Given the description of an element on the screen output the (x, y) to click on. 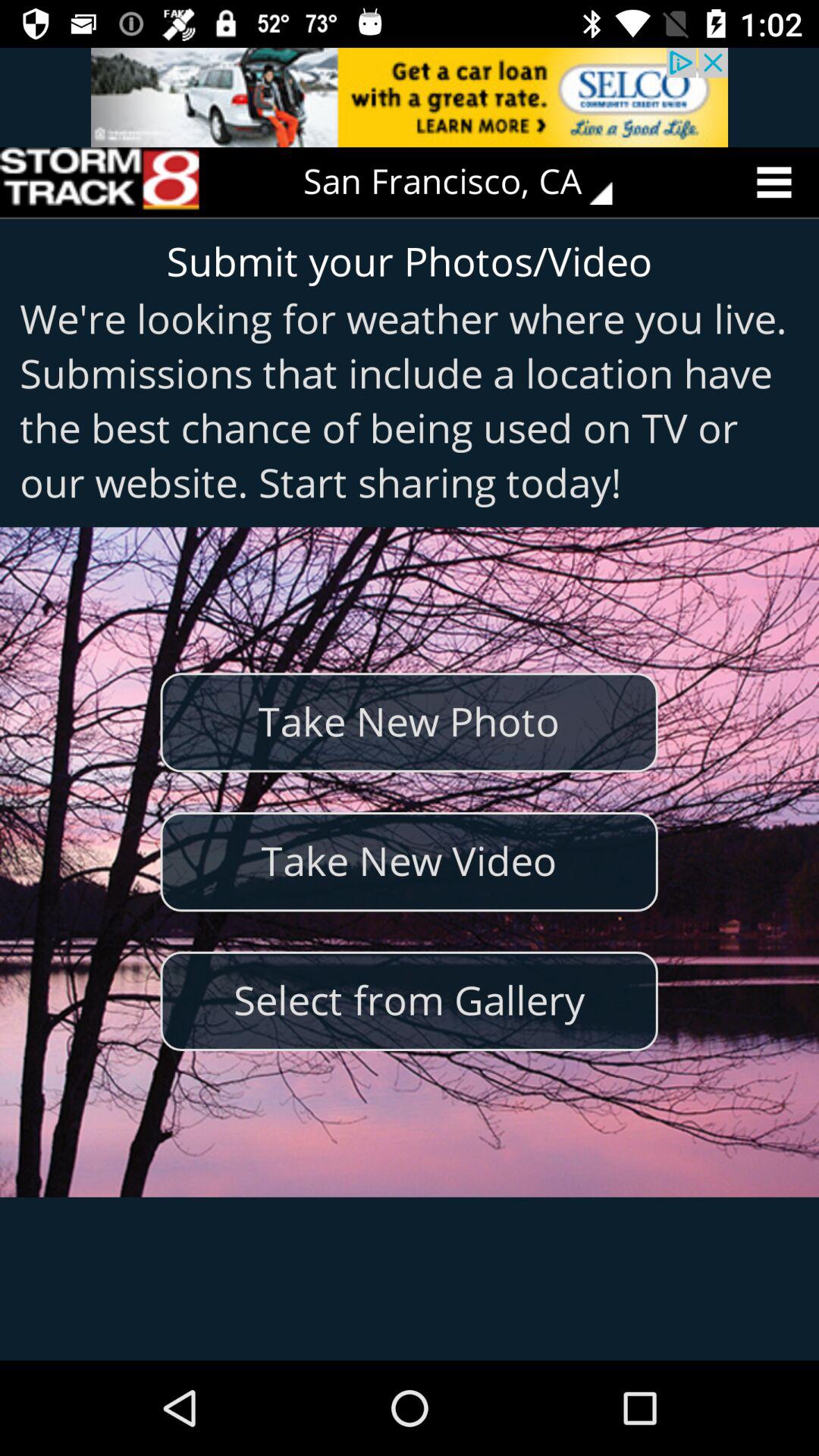
press the icon to the left of san francisco, ca item (99, 182)
